Given the description of an element on the screen output the (x, y) to click on. 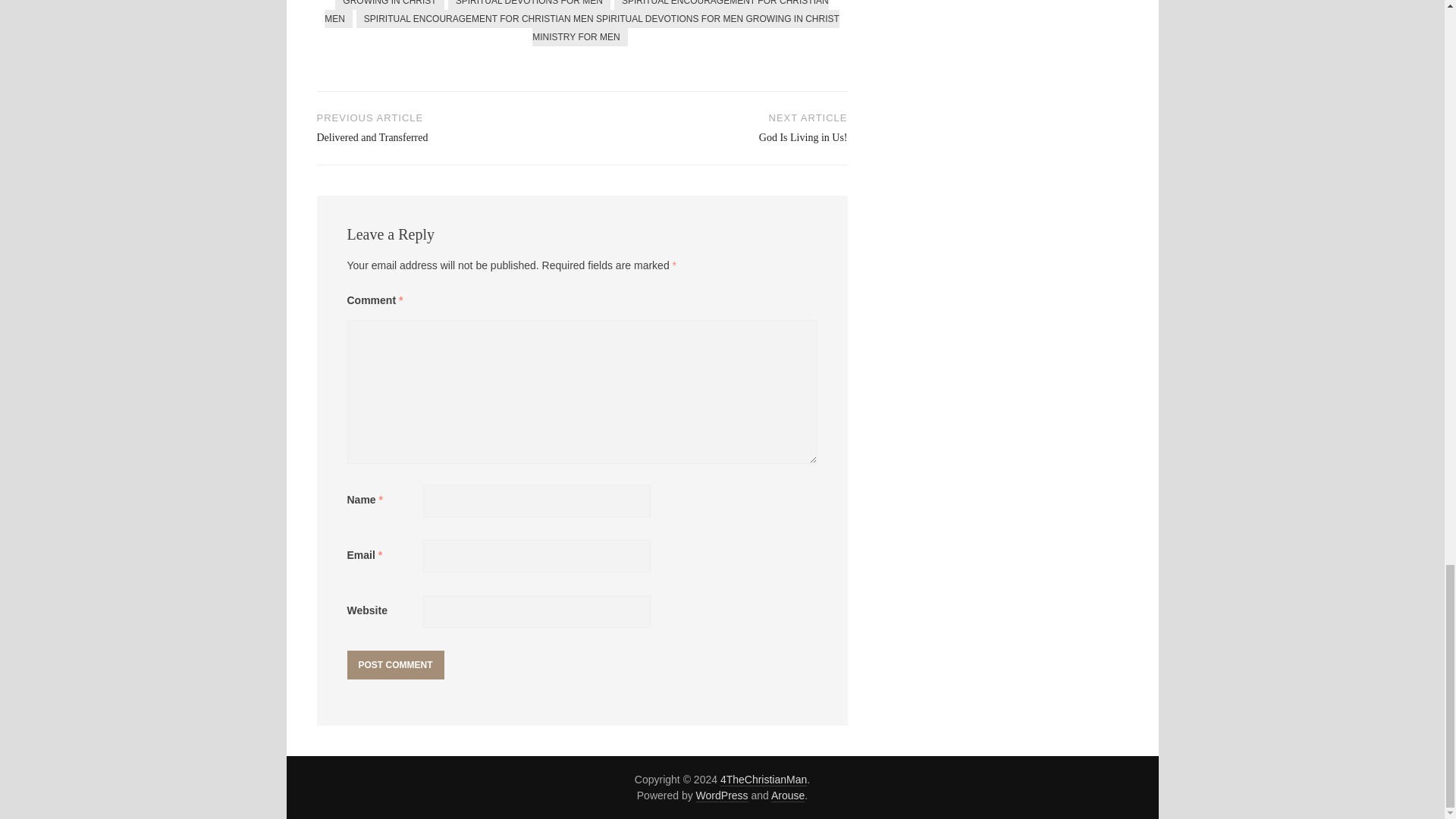
4TheChristianMan (763, 779)
Post Comment (395, 664)
SPIRITUAL ENCOURAGEMENT FOR CHRISTIAN MEN (576, 13)
Post Comment (395, 664)
Arouse WordPress Theme (788, 795)
GROWING IN CHRIST (449, 126)
WordPress (714, 126)
